Given the description of an element on the screen output the (x, y) to click on. 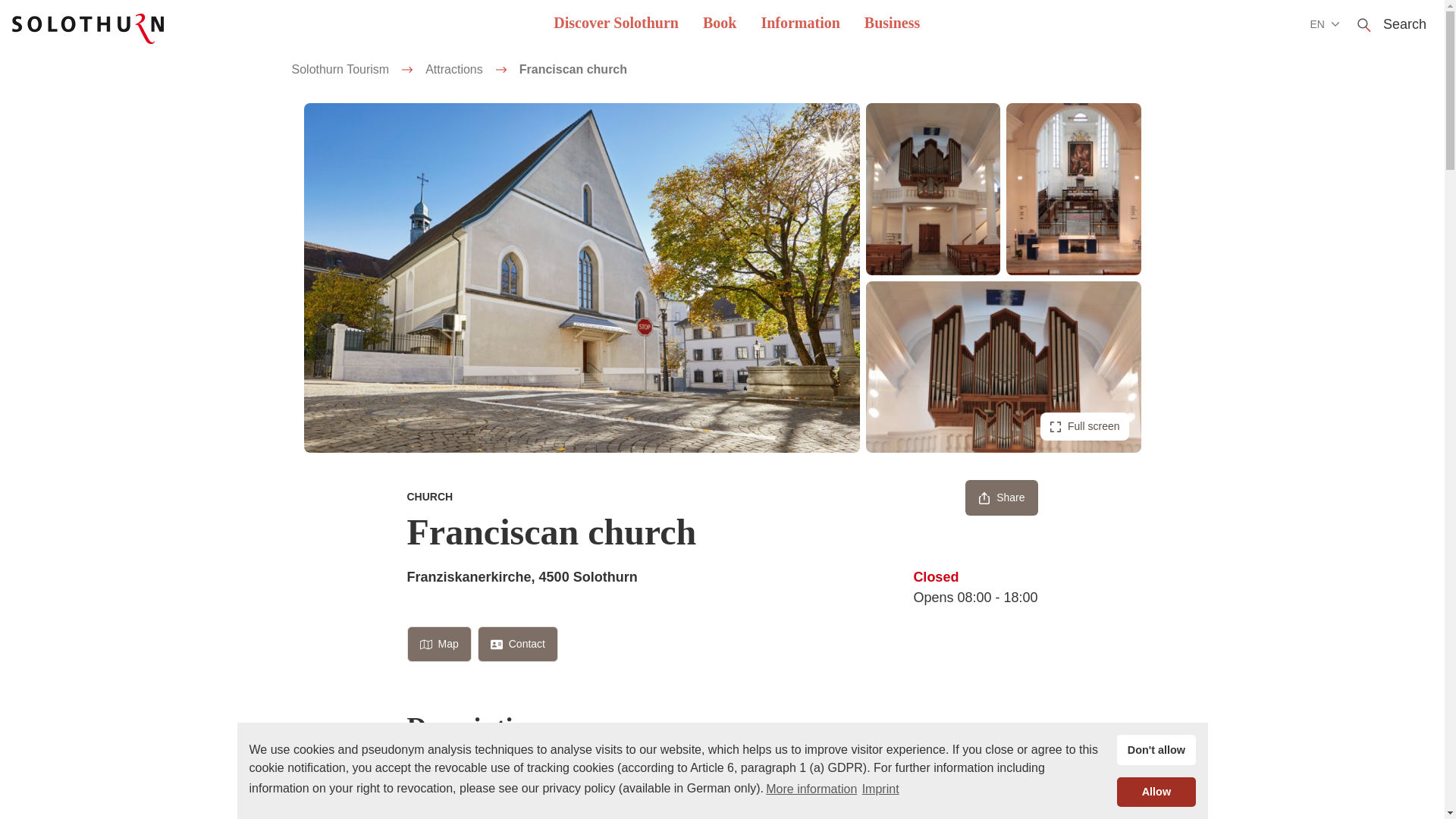
Don't allow (1155, 749)
Allow (1155, 791)
More information (810, 788)
Discover Solothurn (615, 24)
Imprint (880, 788)
